Given the description of an element on the screen output the (x, y) to click on. 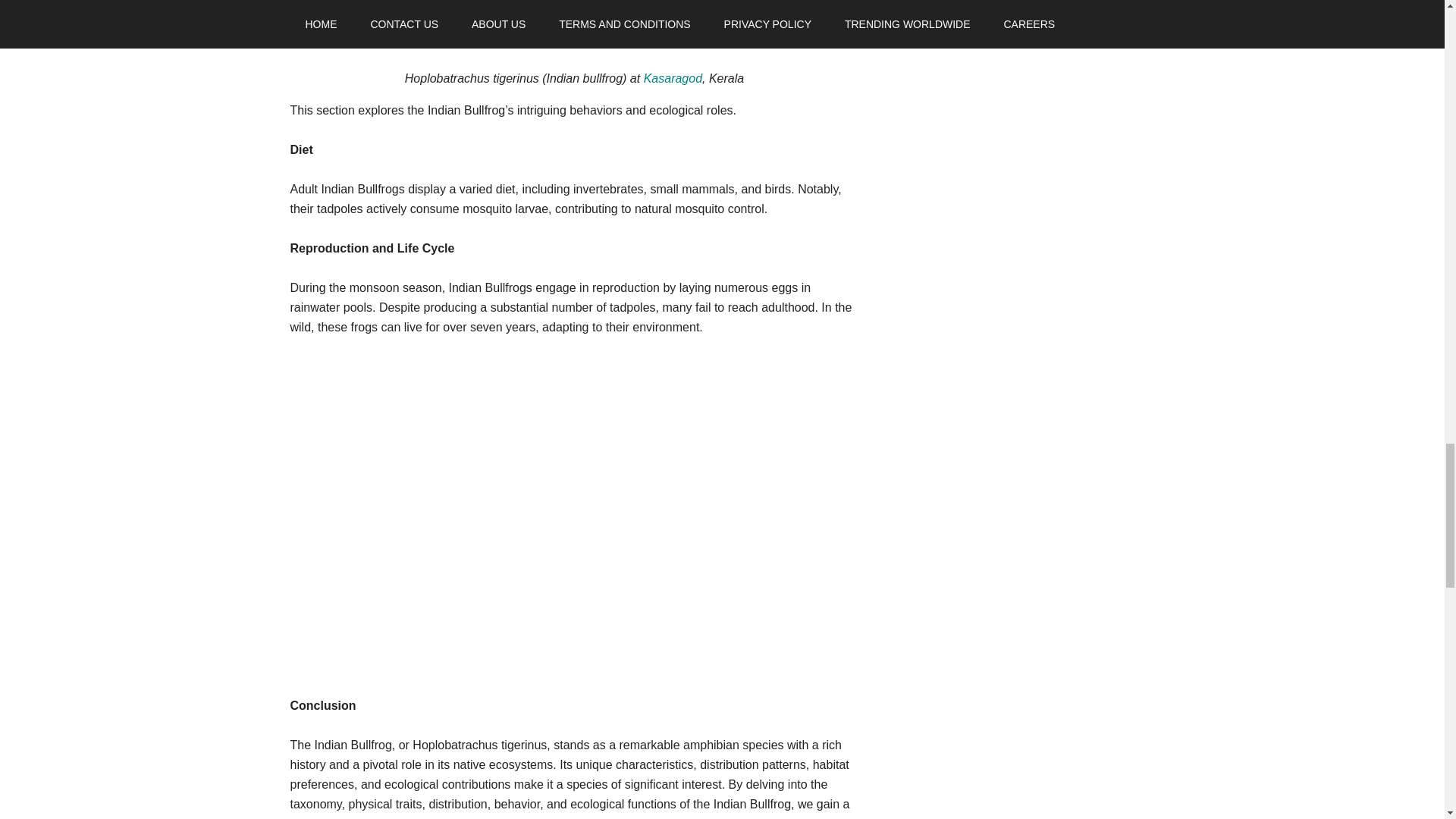
Kasaragod (672, 78)
